Given the description of an element on the screen output the (x, y) to click on. 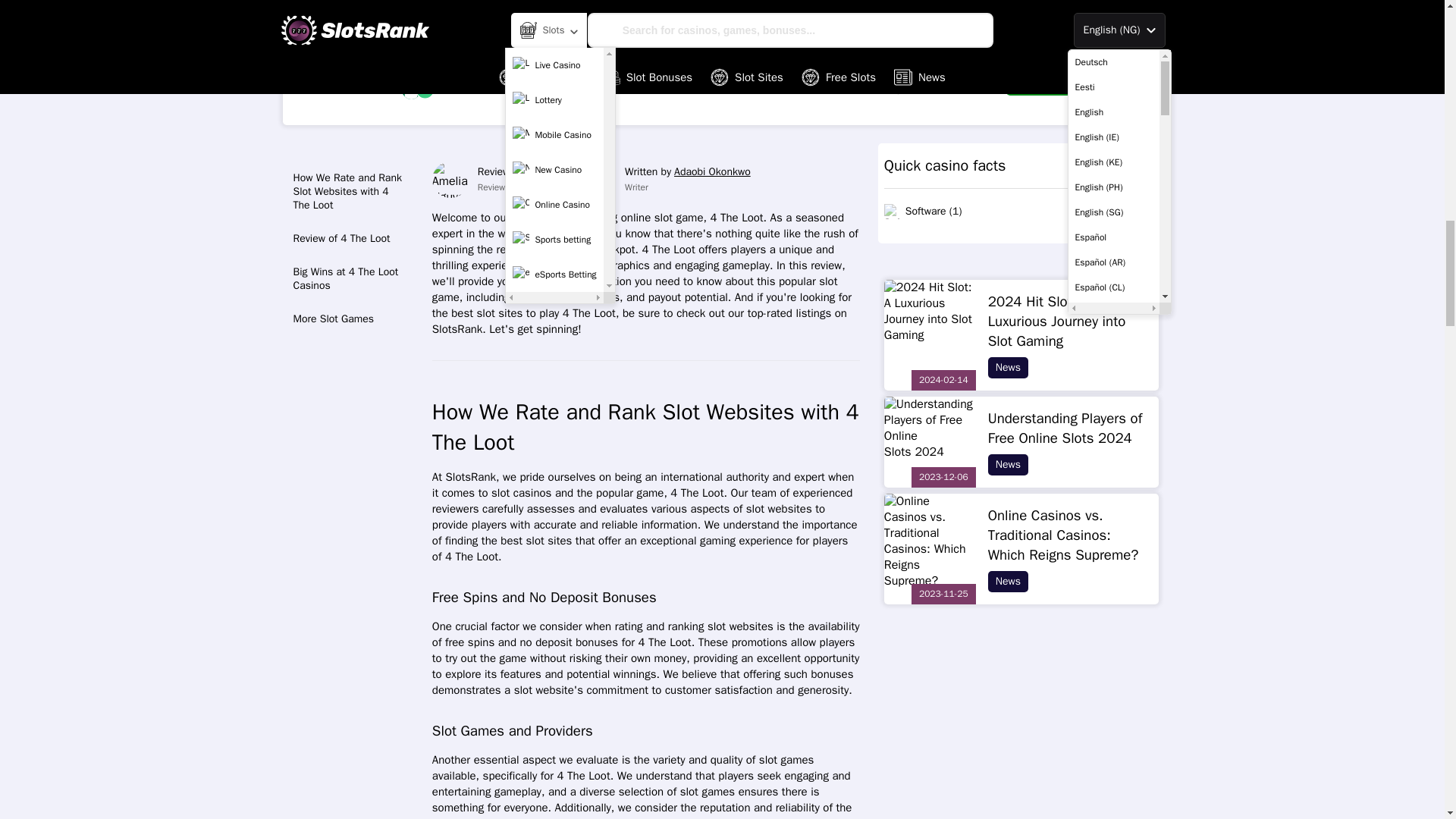
Review of 4 The Loot (352, 238)
Big Wins at 4 The Loot Casinos (352, 278)
More Slot Games (352, 319)
How We Rate and Rank Slot Websites with 4 The Loot (352, 191)
